Given the description of an element on the screen output the (x, y) to click on. 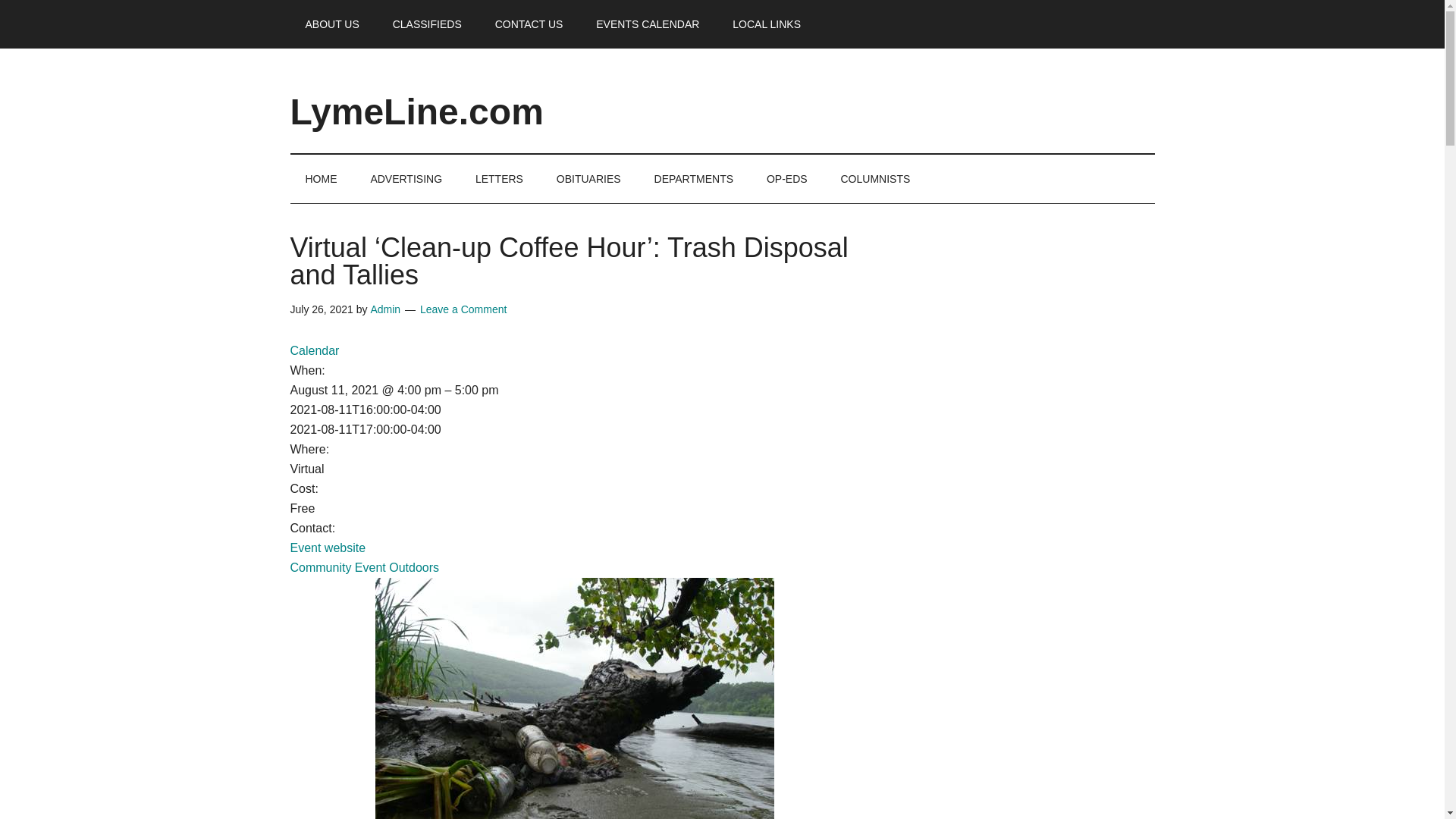
CLASSIFIEDS (427, 24)
LOCAL LINKS (766, 24)
3rd party ad content (994, 347)
COLUMNISTS (874, 178)
DEPARTMENTS (694, 178)
LymeLine.com (416, 111)
OBITUARIES (588, 178)
ADVERTISING (406, 178)
HOME (320, 178)
3rd party ad content (994, 585)
3rd party ad content (976, 94)
View all events (314, 350)
LETTERS (499, 178)
3rd party ad content (994, 773)
